Given the description of an element on the screen output the (x, y) to click on. 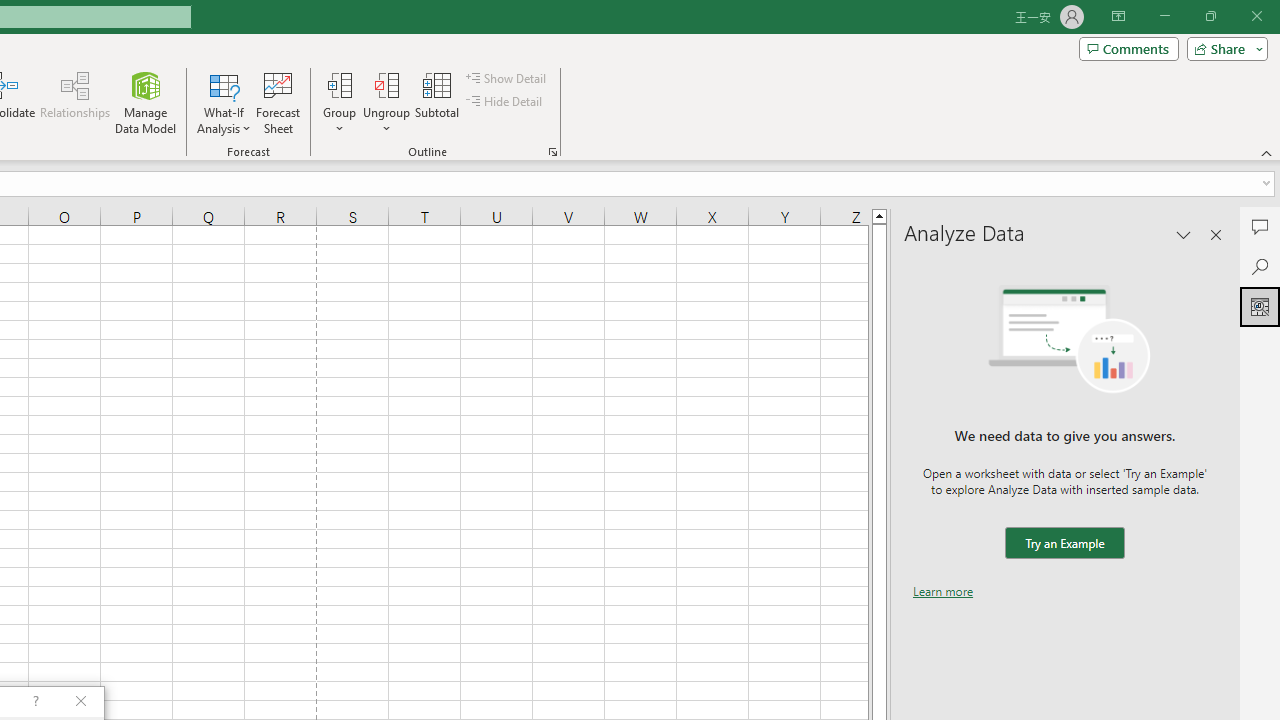
What-If Analysis (223, 102)
Show Detail (507, 78)
Group and Outline Settings (552, 151)
Search (1260, 266)
Learn more (943, 591)
